Given the description of an element on the screen output the (x, y) to click on. 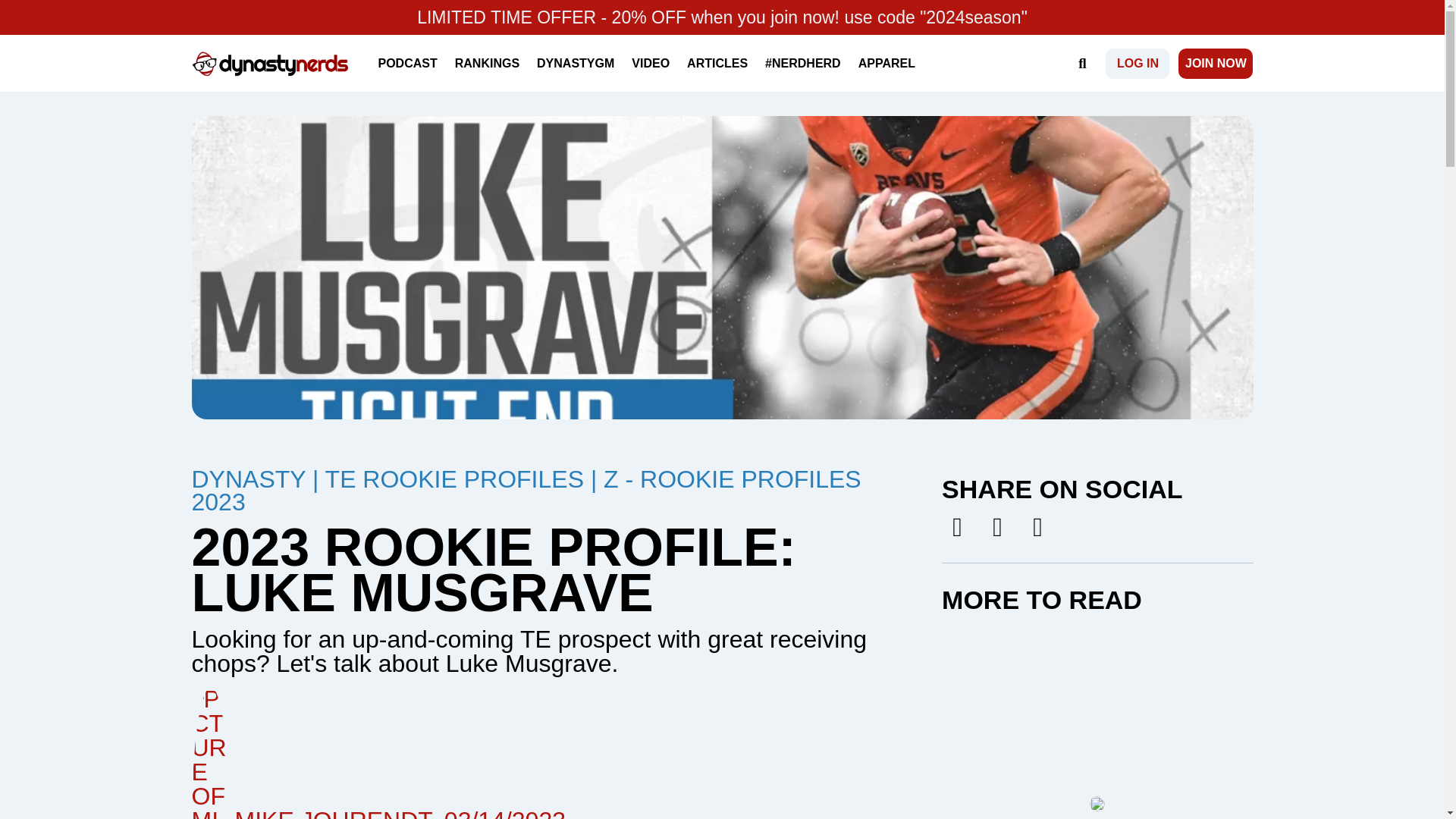
APPAREL (886, 62)
DYNASTYGM (575, 62)
ARTICLES (716, 62)
PODCAST (407, 62)
VIDEO (650, 62)
RANKINGS (486, 62)
